Given the description of an element on the screen output the (x, y) to click on. 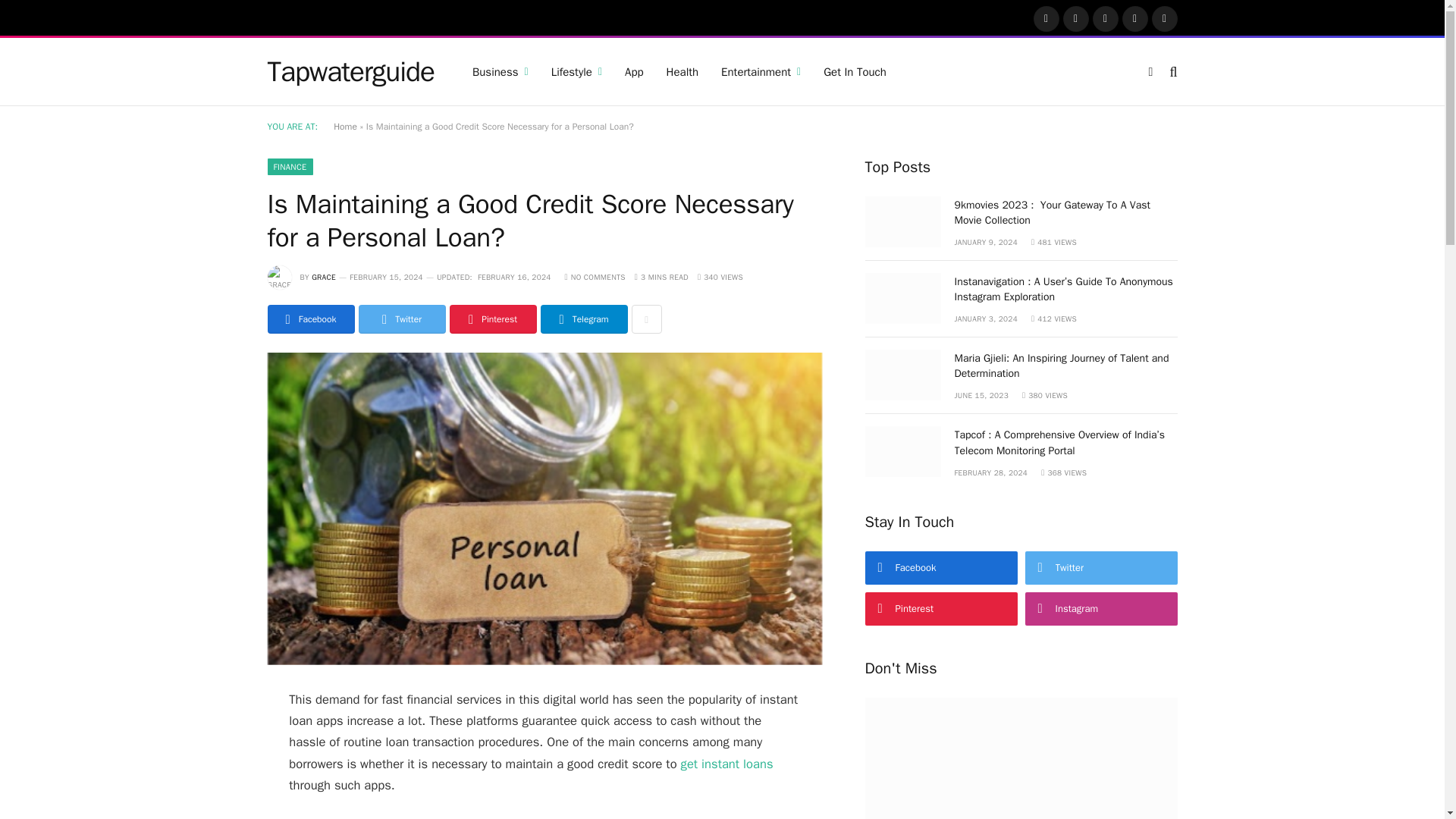
Get In Touch (855, 71)
340 Article Views (719, 276)
tapwaterguide (349, 71)
Facebook (1046, 18)
Lifestyle (576, 71)
Posts by Grace (323, 276)
Business (500, 71)
Tapwaterguide (349, 71)
Vimeo (1164, 18)
Instagram (1105, 18)
